Given the description of an element on the screen output the (x, y) to click on. 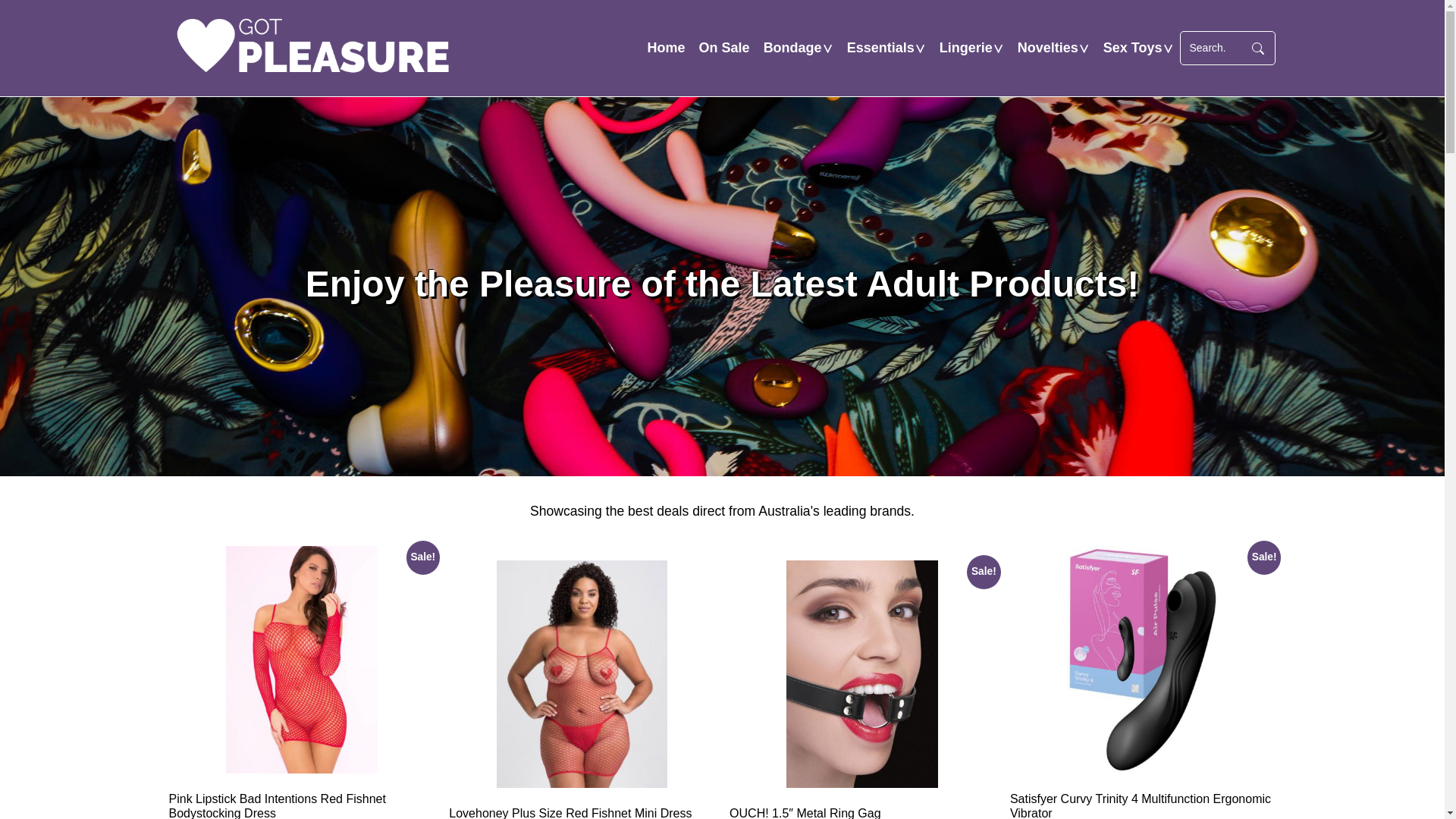
Skip to content Element type: text (721, 0)
On Sale Element type: text (724, 48)
Lingerie Element type: text (965, 48)
Essentials Element type: text (880, 48)
Enjoy the Pleasure of the Latest Adult Products! Element type: hover (312, 48)
Search Element type: hover (1212, 47)
Home Element type: text (666, 48)
Novelties Element type: text (1047, 48)
Search Element type: text (1257, 47)
Bondage Element type: text (792, 48)
Sex Toys Element type: text (1132, 48)
